Given the description of an element on the screen output the (x, y) to click on. 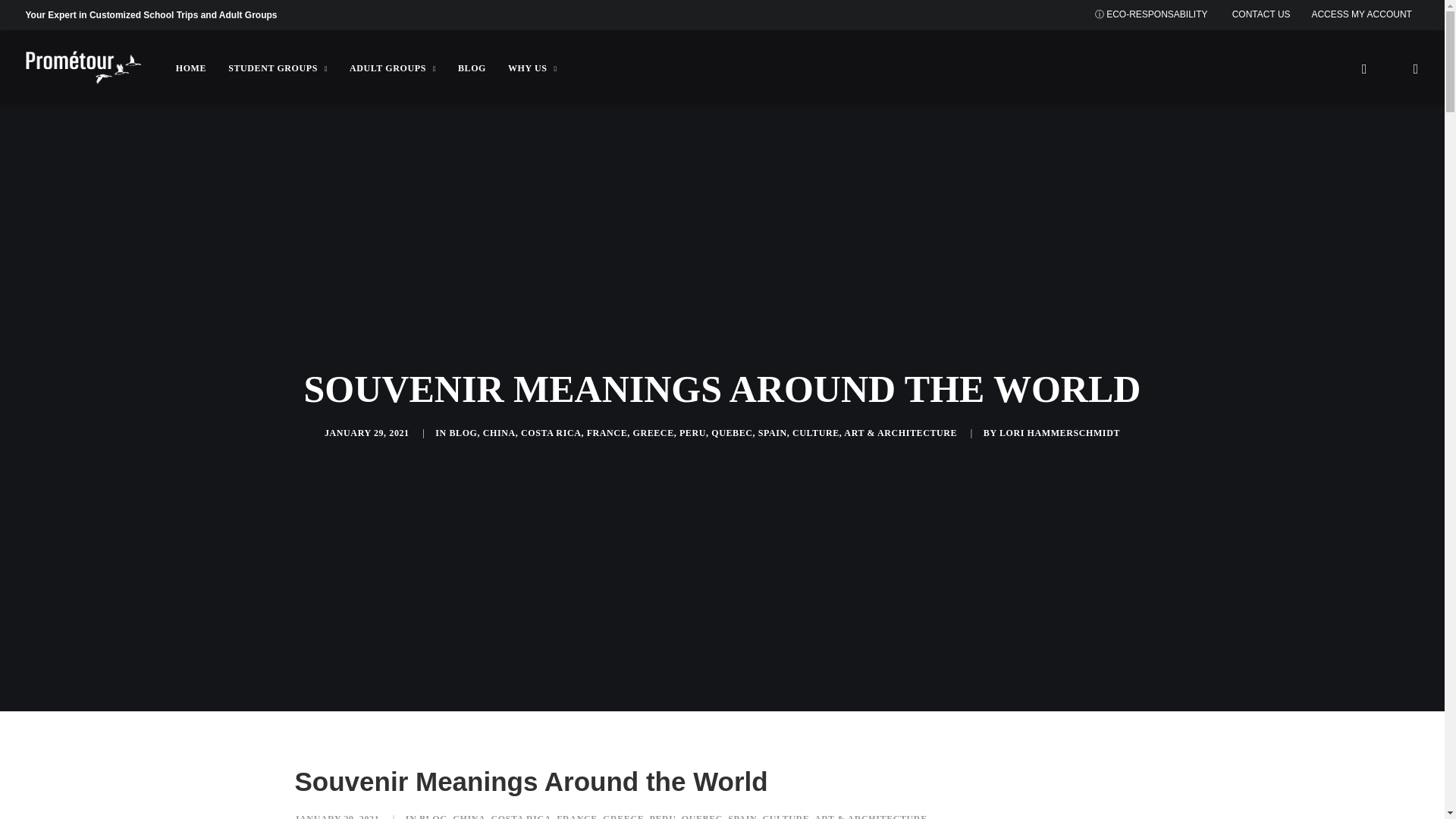
ACCESS MY ACCOUNT (1364, 13)
CONTACT US (1264, 13)
STUDENT GROUPS (275, 67)
ECO-RESPONSABILITY (1154, 13)
Request Info (1264, 13)
ACCESS MY ACCOUNT (1364, 13)
HOME (189, 67)
prometour-logo-white-alt2 (83, 66)
